Given the description of an element on the screen output the (x, y) to click on. 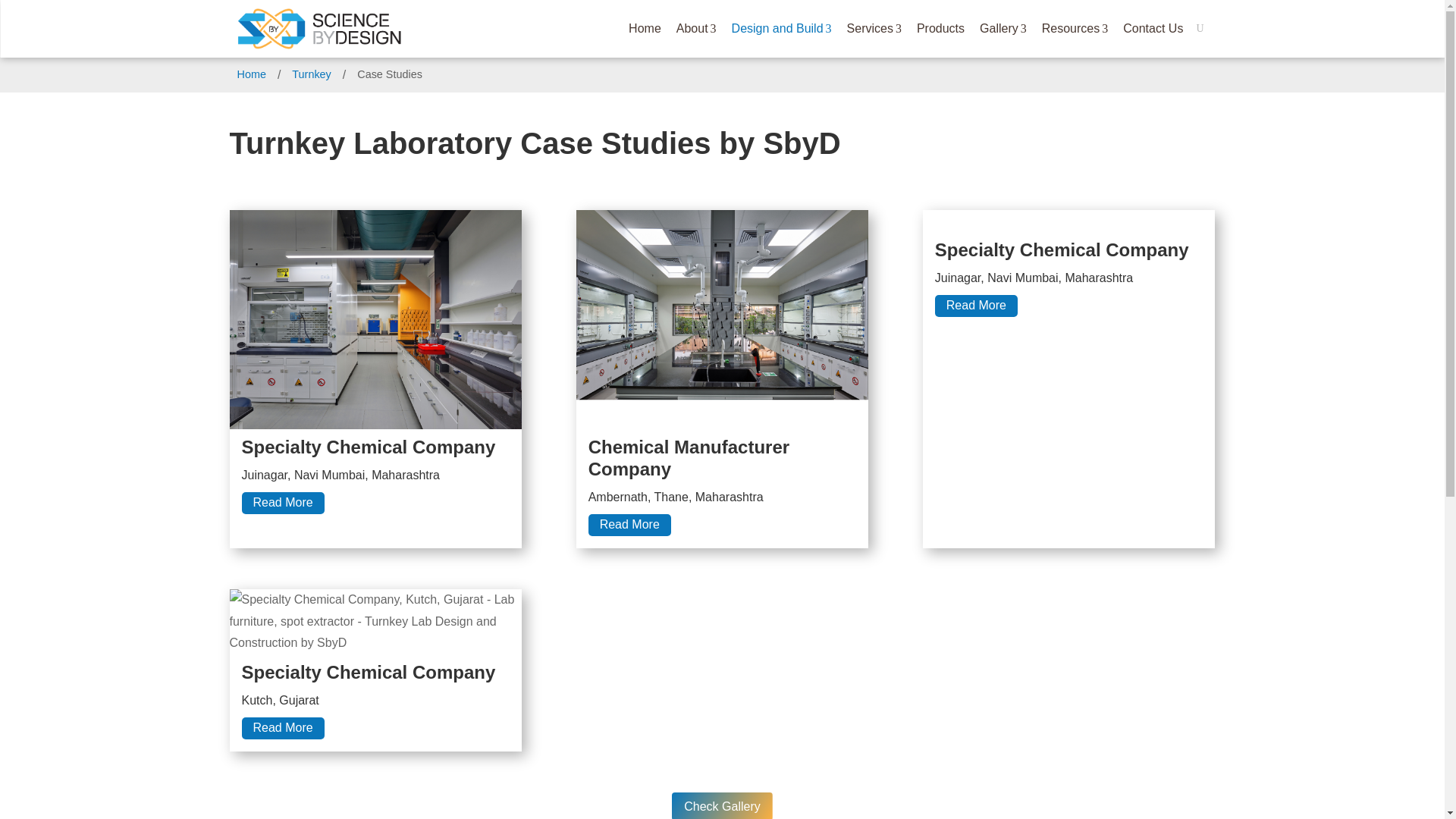
Products (940, 28)
Contact Us (1152, 28)
Home (696, 28)
